Given the description of an element on the screen output the (x, y) to click on. 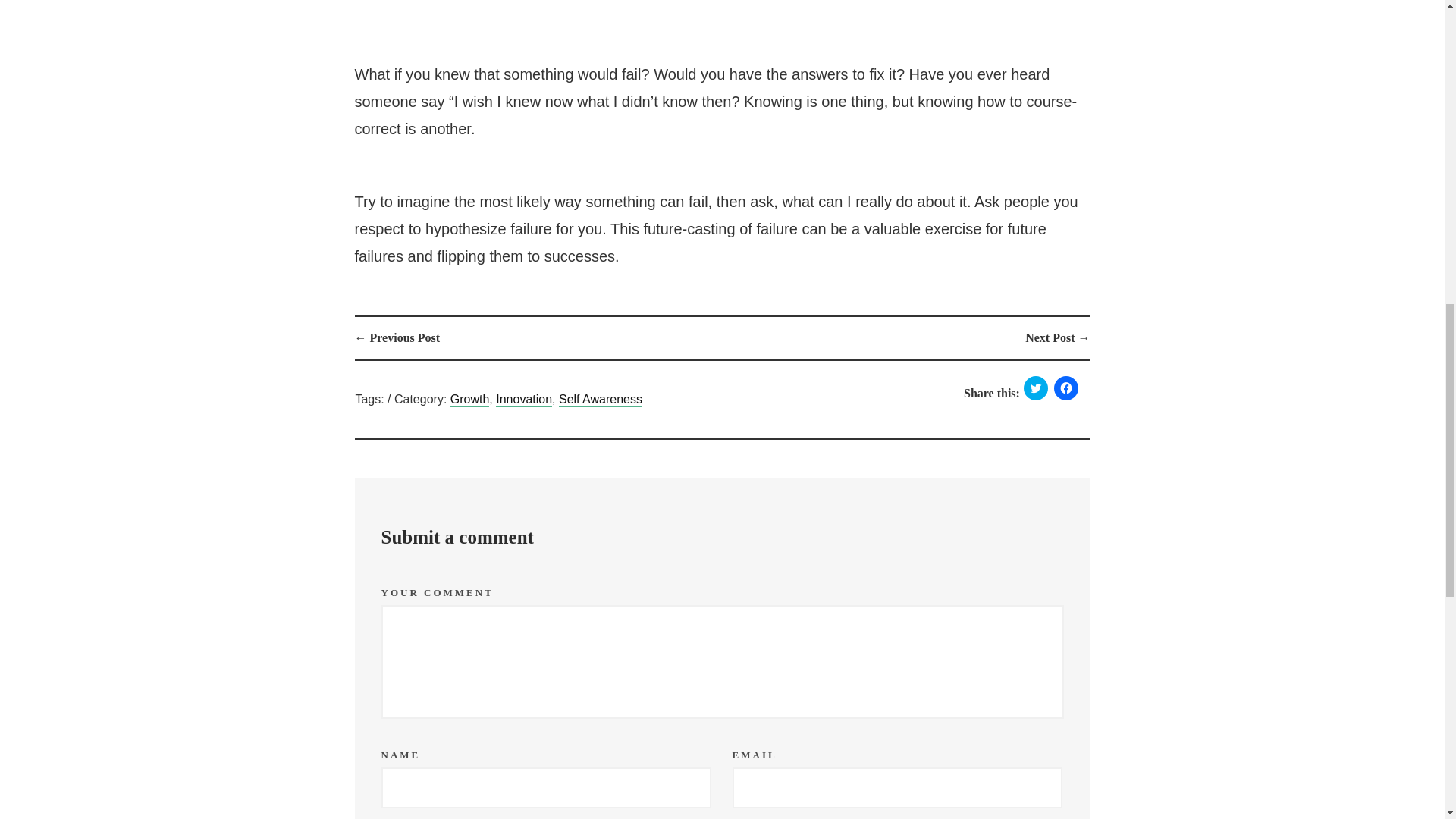
Self Awareness (600, 400)
Click to share on Facebook (1066, 387)
Growth (469, 400)
Click to share on Twitter (1035, 387)
Innovation (523, 400)
